Given the description of an element on the screen output the (x, y) to click on. 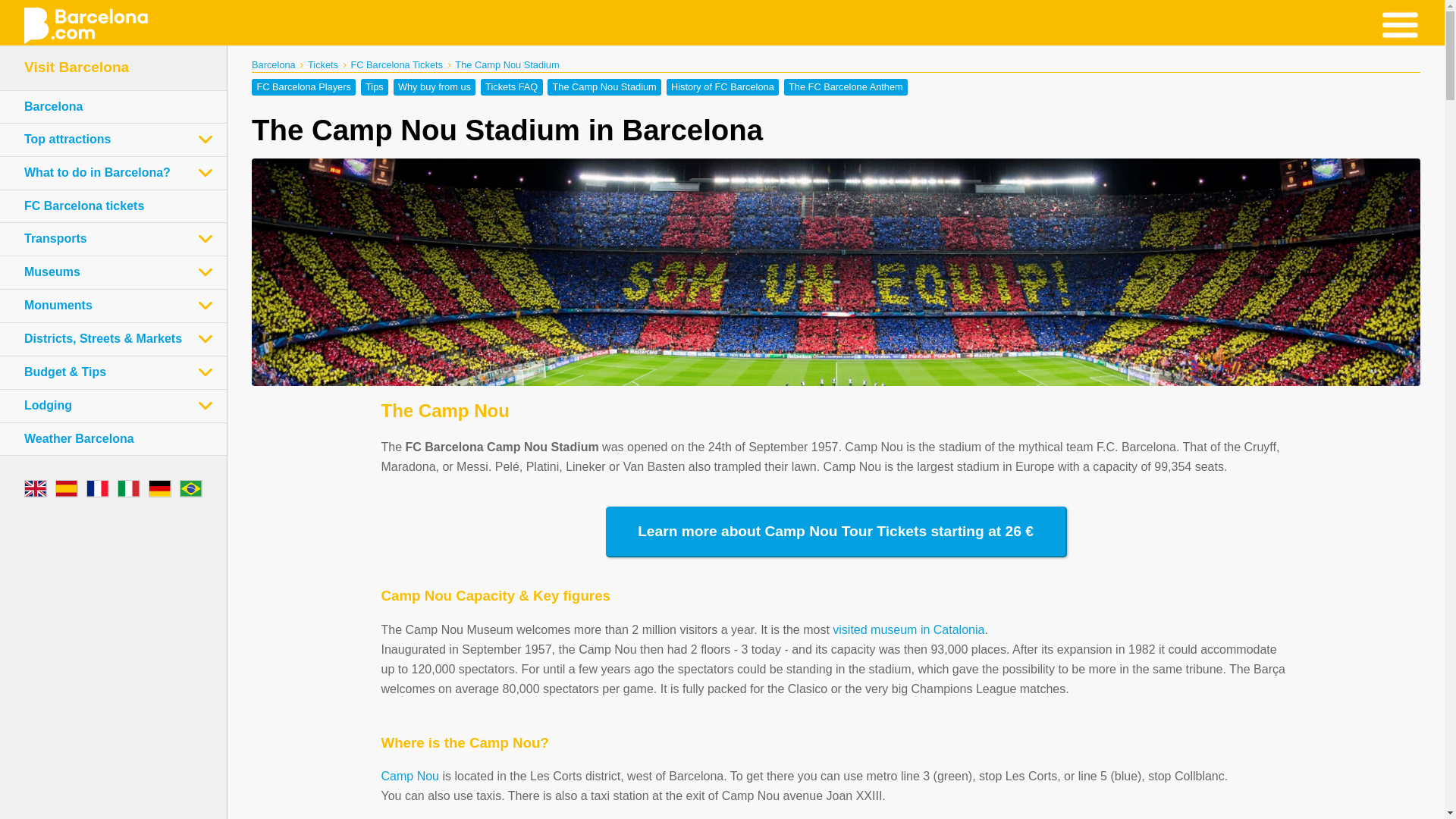
Camp Nou (409, 775)
The Camp Nou Stadium (604, 86)
Park Guell Tickets (82, 162)
Barcelona (53, 106)
FC Barcelona Tickets (396, 64)
logo-ba-white (85, 25)
FC Barcelona Players (303, 86)
Tickets (322, 64)
Camp Nou tour tickets (94, 162)
Camp Nou (409, 775)
visited museum in Catalonia (908, 629)
The FC Barcelone Anthem (846, 86)
Camp Nou Tour Barcelona (908, 629)
Why buy from us (434, 86)
Barcelona (273, 64)
